Given the description of an element on the screen output the (x, y) to click on. 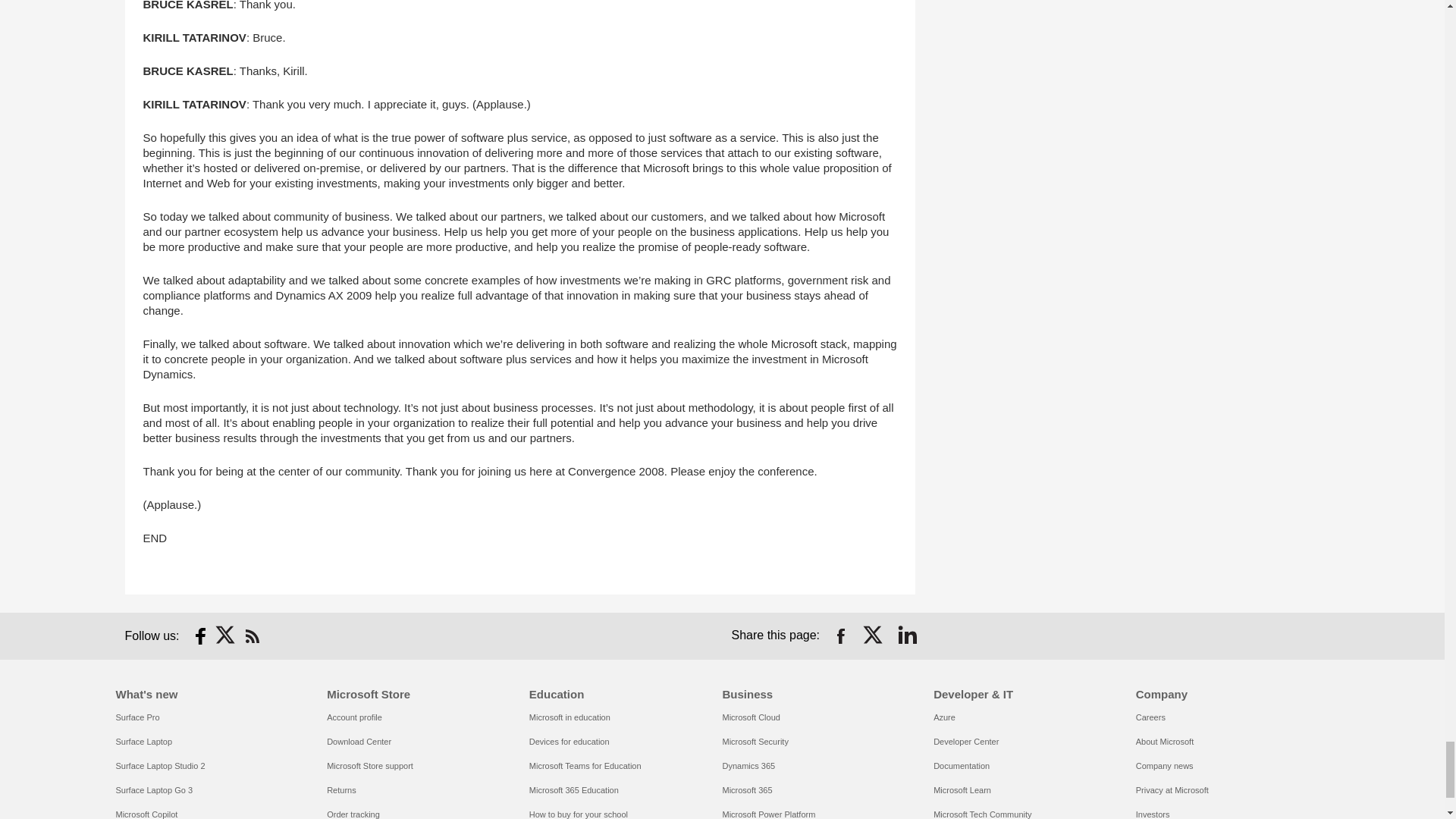
Share on LinkedIn (907, 636)
Follow on Twitter (226, 636)
Follow on Facebook (200, 636)
Share on Twitter (873, 636)
RSS Subscription (252, 636)
Share on Facebook (840, 636)
